Given the description of an element on the screen output the (x, y) to click on. 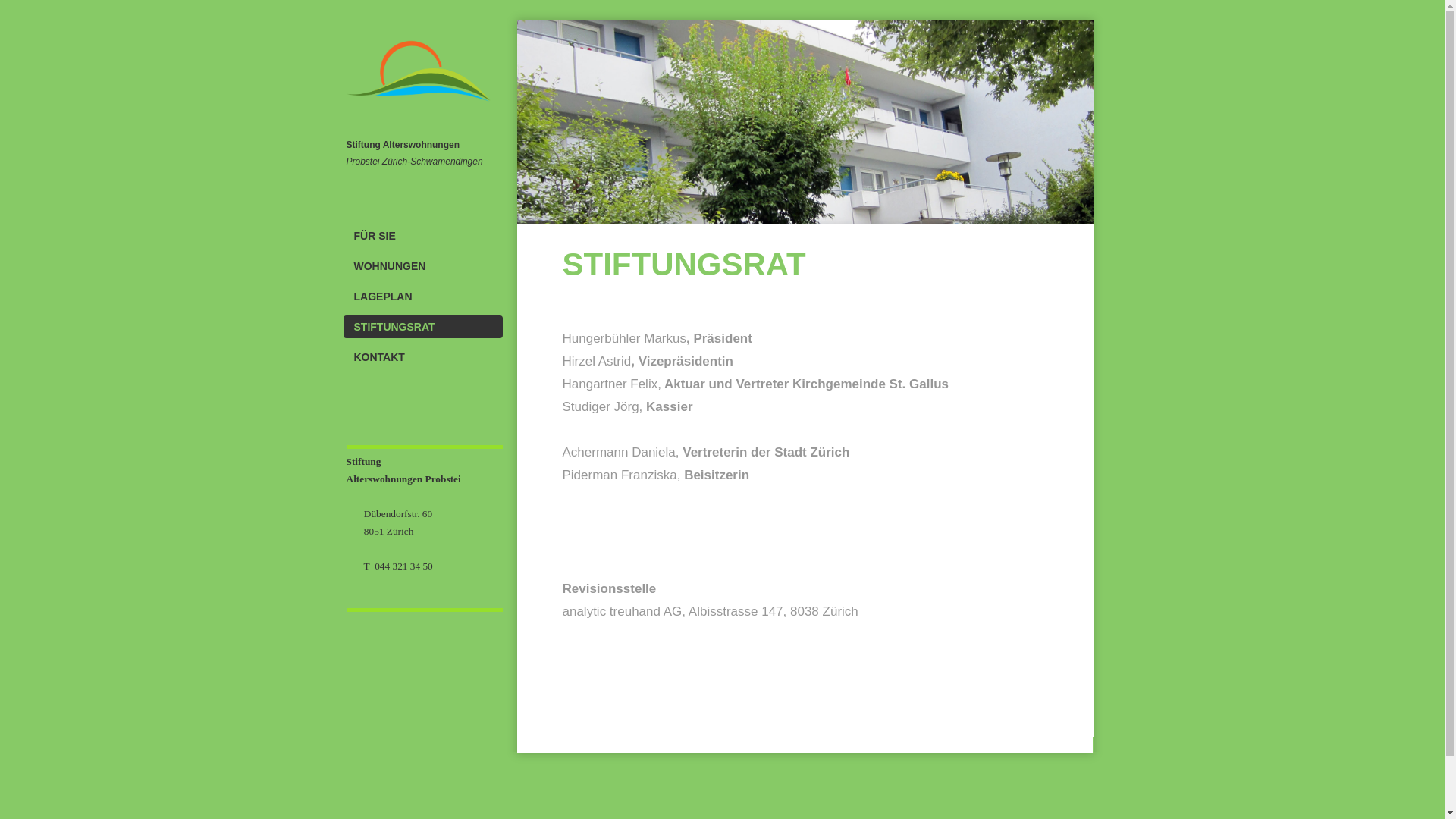
WOHNUNGEN Element type: text (422, 265)
KONTAKT Element type: text (422, 356)
STIFTUNGSRAT Element type: text (422, 326)
LAGEPLAN Element type: text (422, 296)
